Given the description of an element on the screen output the (x, y) to click on. 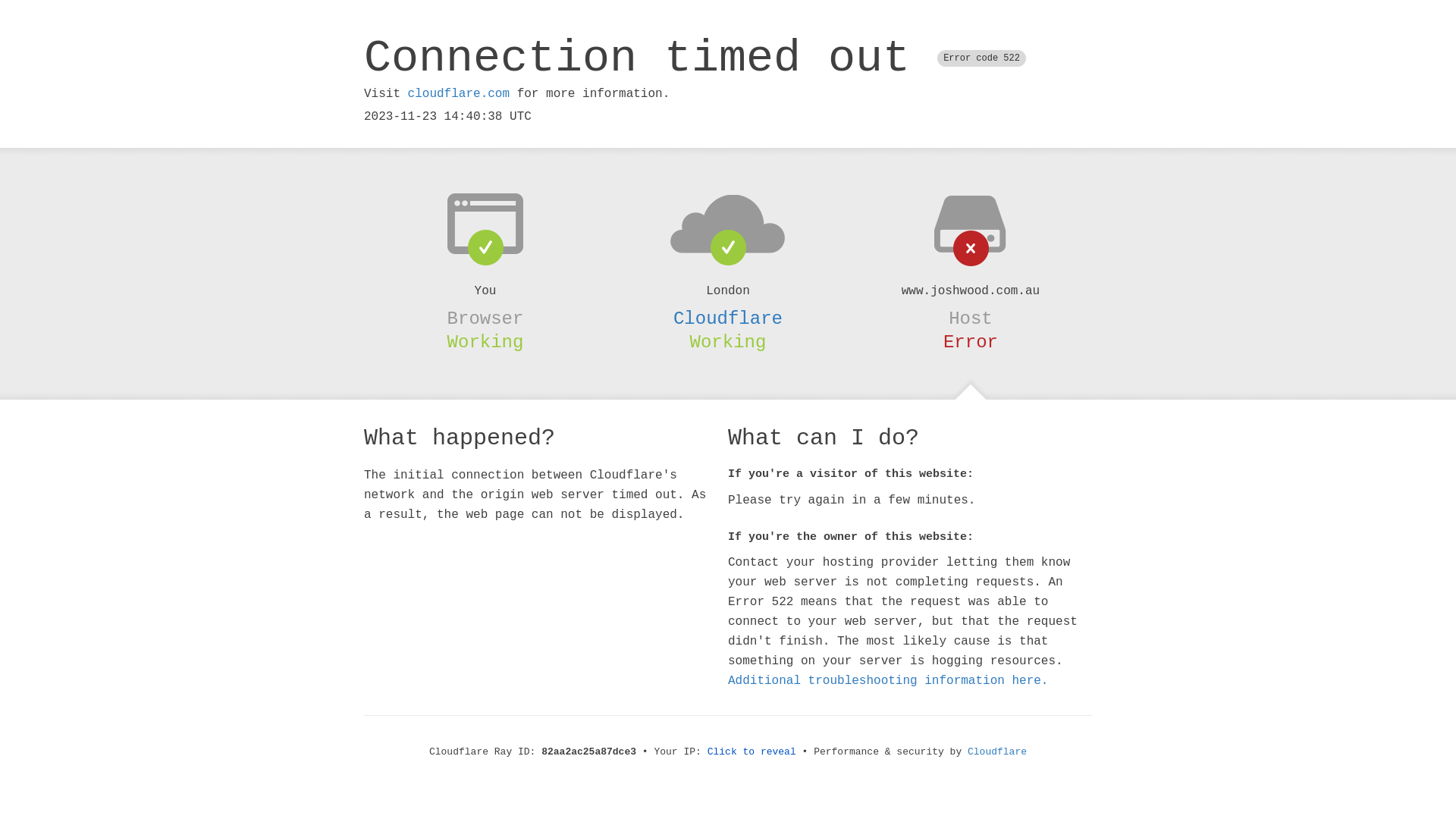
Cloudflare Element type: text (727, 318)
Click to reveal Element type: text (751, 751)
cloudflare.com Element type: text (458, 93)
Additional troubleshooting information here. Element type: text (888, 680)
Cloudflare Element type: text (996, 751)
